Given the description of an element on the screen output the (x, y) to click on. 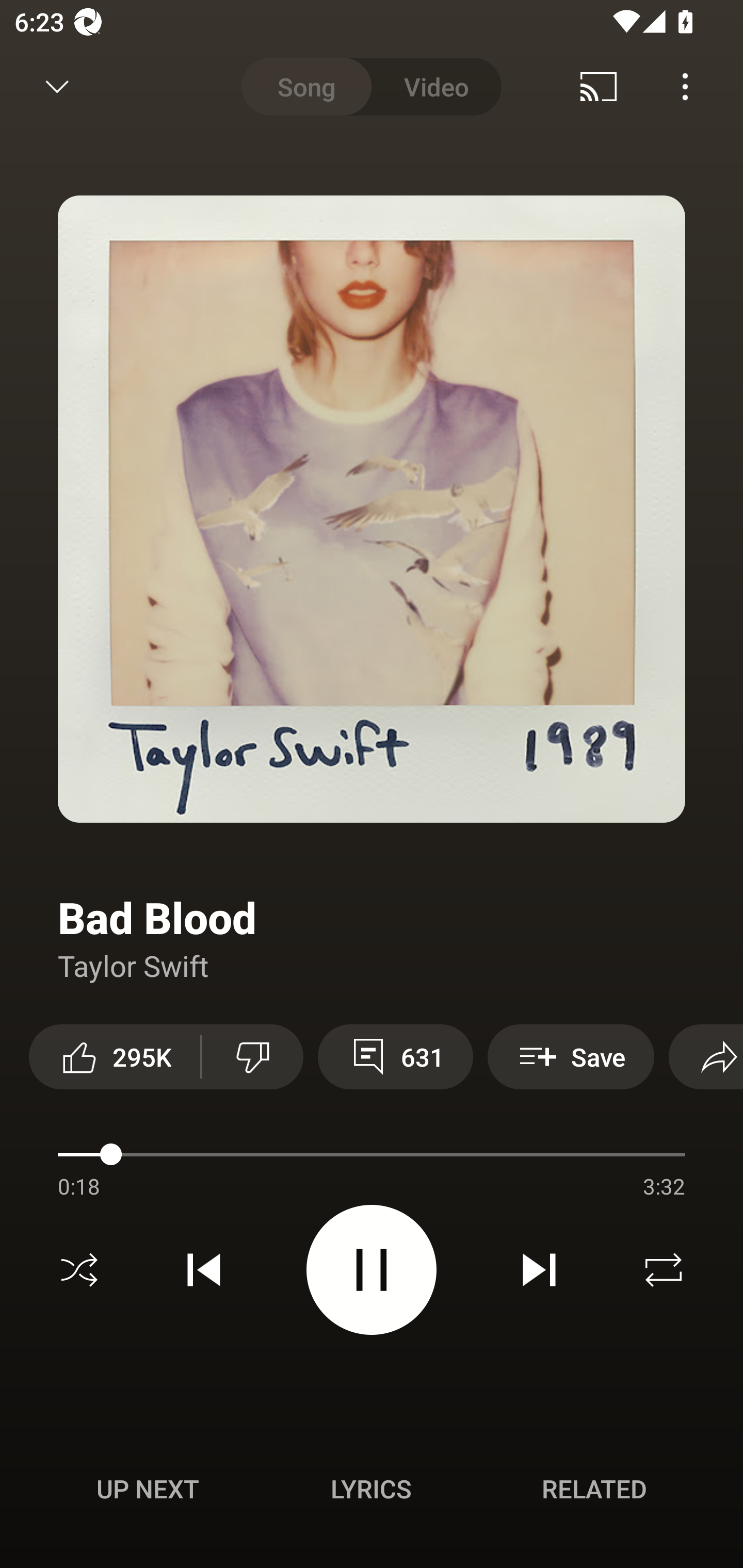
Minimize (57, 86)
Cast. Disconnected (598, 86)
Menu (684, 86)
Dislike (252, 1056)
631 View 631 comments (395, 1056)
Save Save to playlist (570, 1056)
Share (705, 1056)
Pause video (371, 1269)
Shuffle off (79, 1269)
Previous track (203, 1269)
Next track (538, 1269)
Repeat off (663, 1269)
Up next UP NEXT Lyrics LYRICS Related RELATED (371, 1491)
Lyrics LYRICS (370, 1488)
Related RELATED (594, 1488)
